Given the description of an element on the screen output the (x, y) to click on. 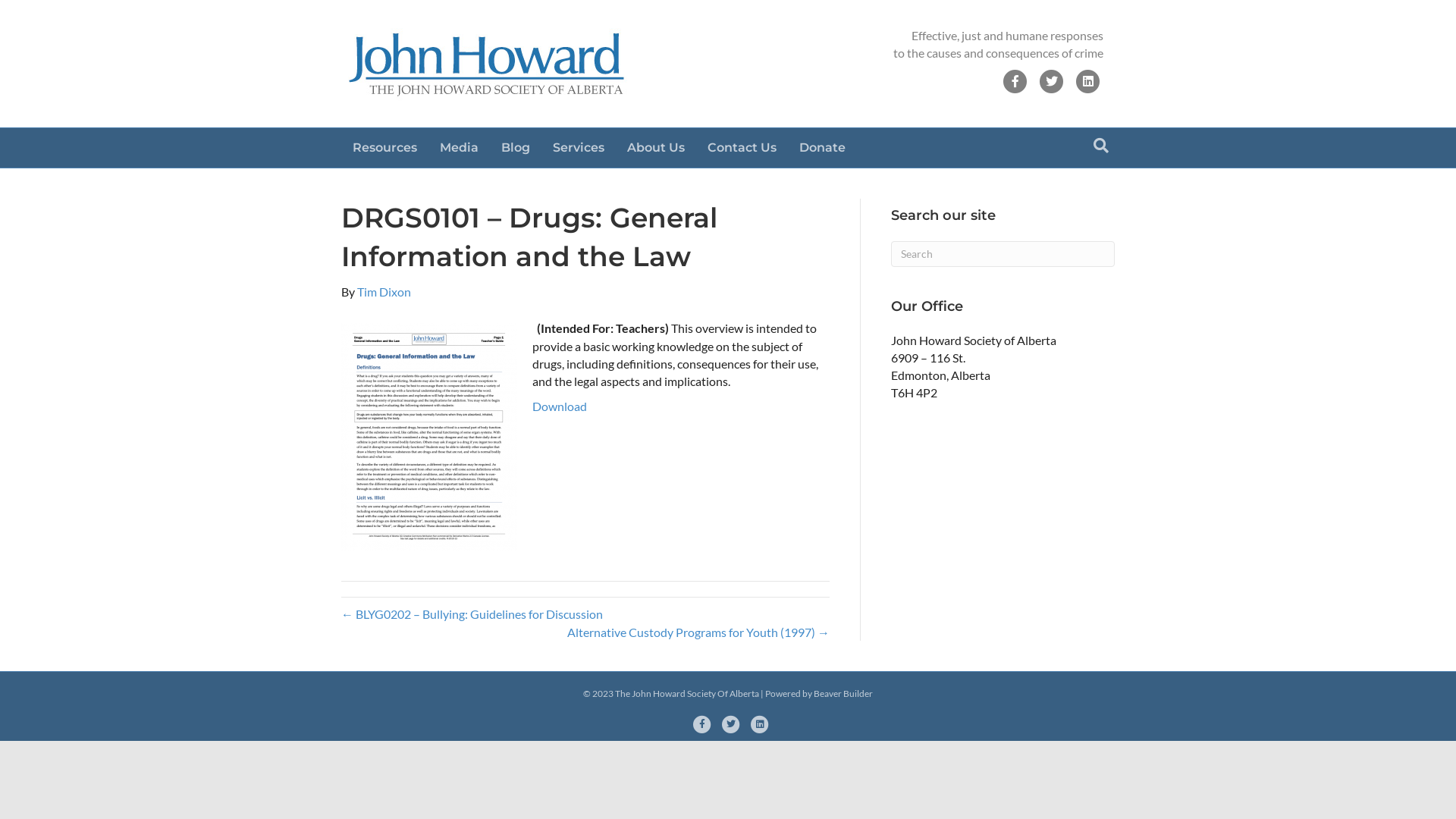
Twitter Element type: text (730, 724)
Twitter Element type: text (1051, 81)
Contact Us Element type: text (741, 147)
Linkedin Element type: text (759, 724)
Facebook Element type: text (1015, 81)
Tim Dixon Element type: text (384, 291)
Media Element type: text (458, 147)
Services Element type: text (578, 147)
Beaver Builder Element type: text (842, 693)
Resources Element type: text (384, 147)
Linkedin Element type: text (1088, 81)
Blog Element type: text (515, 147)
Donate Element type: text (821, 147)
Type and press Enter to search. Element type: hover (1002, 253)
Facebook Element type: text (701, 724)
About Us Element type: text (655, 147)
Download Element type: text (559, 405)
